Given the description of an element on the screen output the (x, y) to click on. 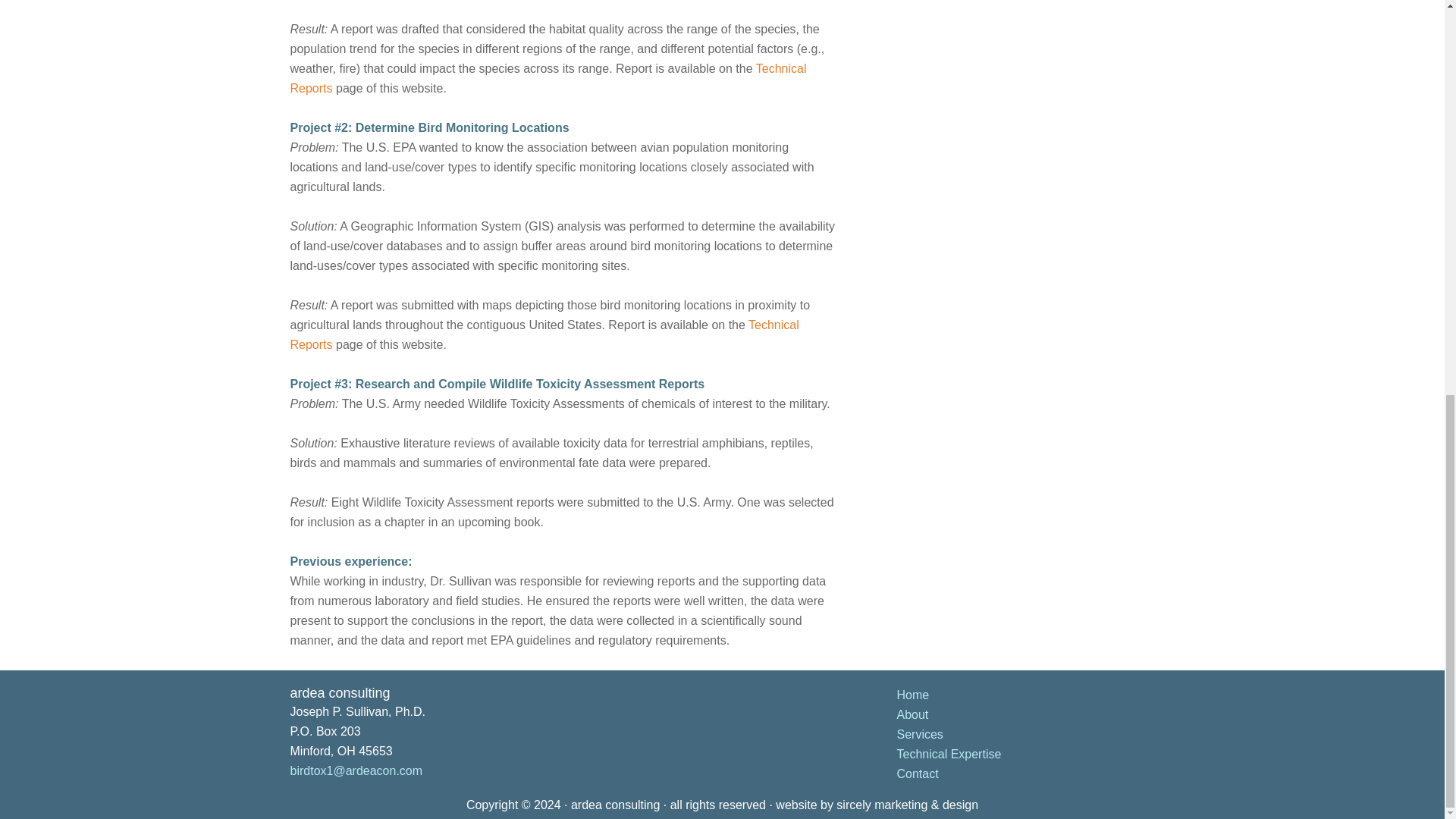
Technical Expertise (948, 753)
Technical Reports (547, 78)
Services (919, 734)
Home (912, 694)
Technical Reports (543, 334)
About (912, 714)
Contact (916, 773)
